Given the description of an element on the screen output the (x, y) to click on. 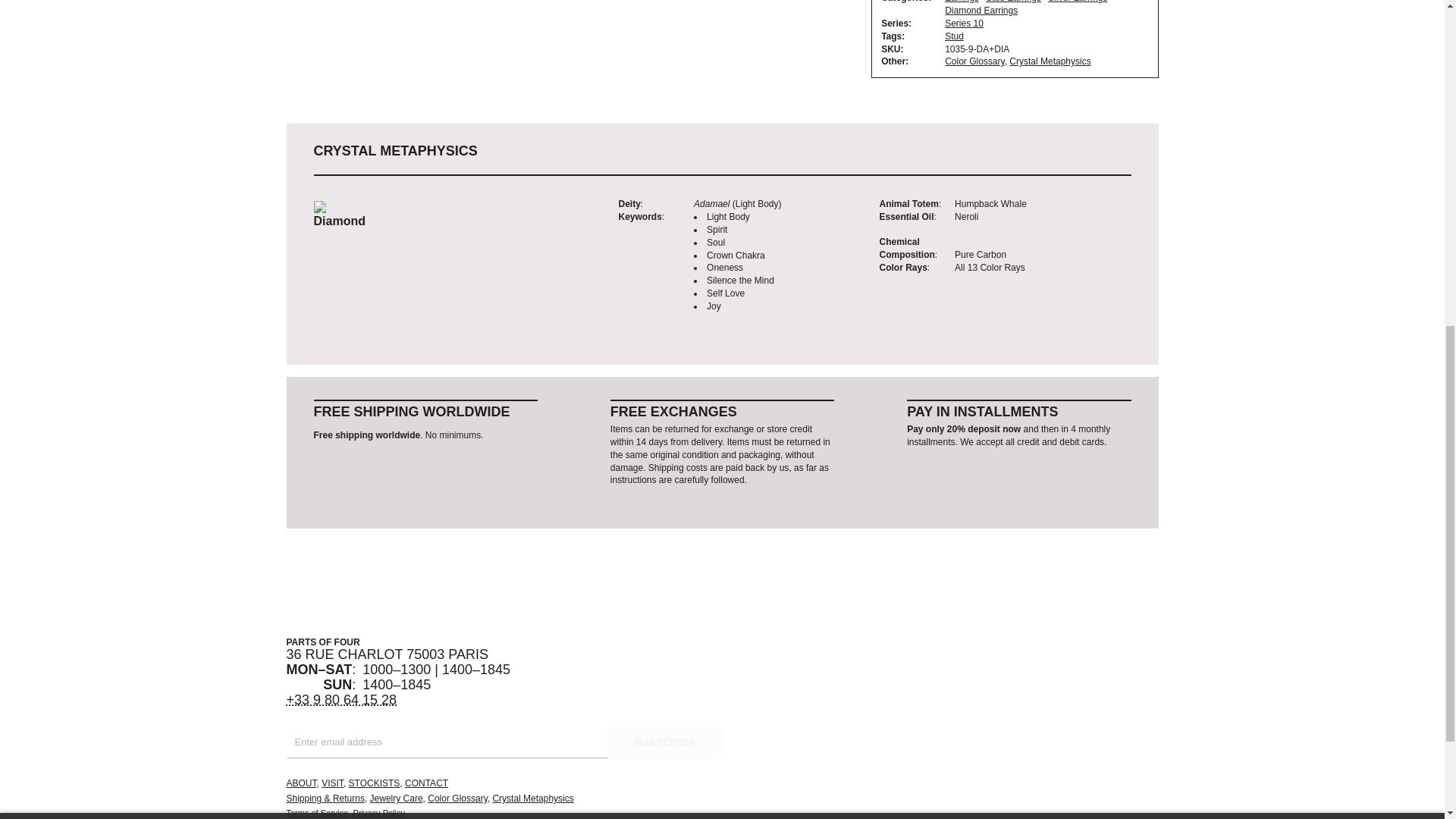
Subscribe (664, 742)
